Given the description of an element on the screen output the (x, y) to click on. 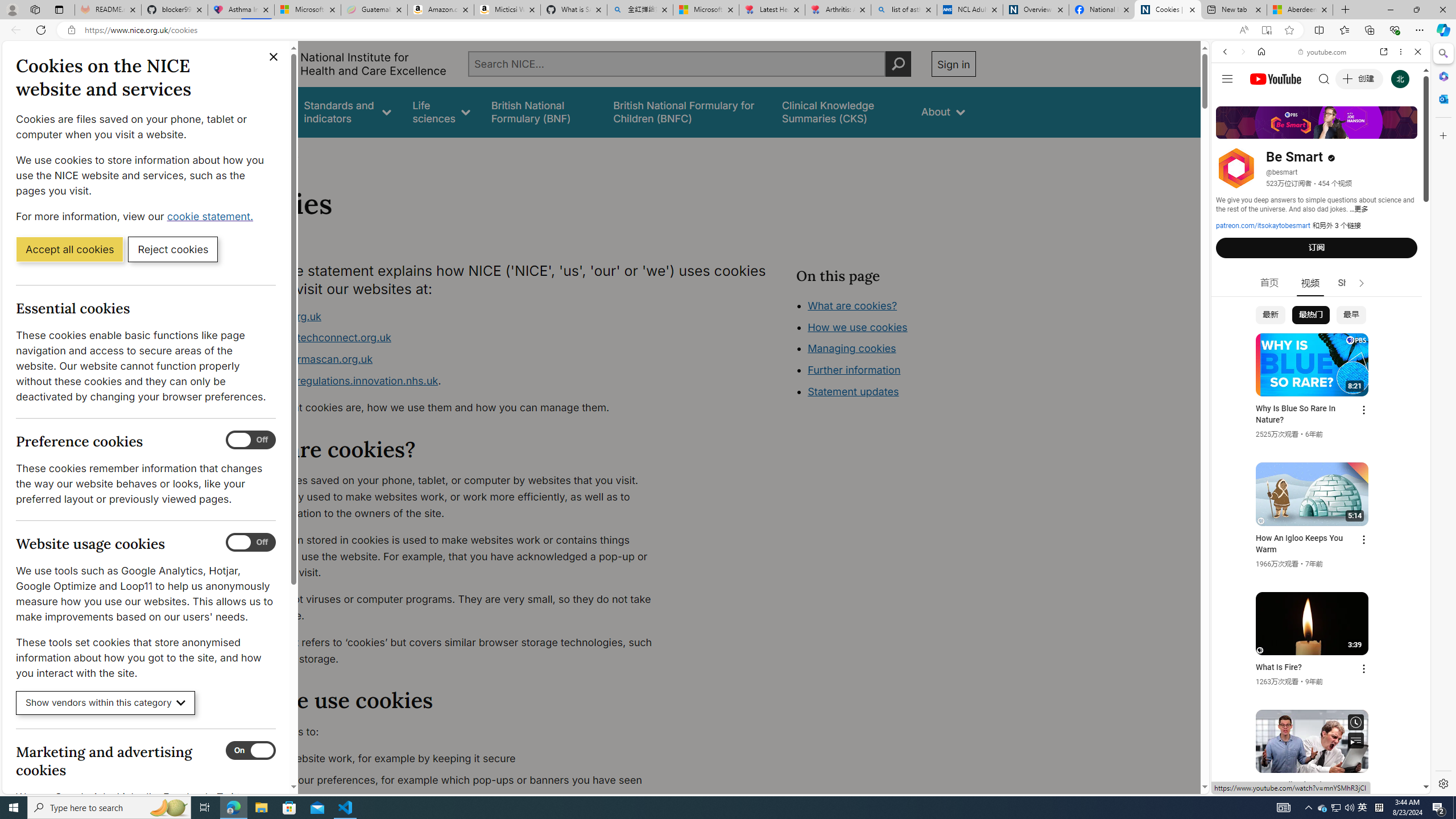
www.nice.org.uk (452, 316)
Shorts (1351, 283)
Trailer #2 [HD] (1320, 336)
www.digitalregulations.innovation.nhs.uk. (452, 380)
patreon.com/itsokaytobesmart (1262, 225)
Life sciences (440, 111)
